Given the description of an element on the screen output the (x, y) to click on. 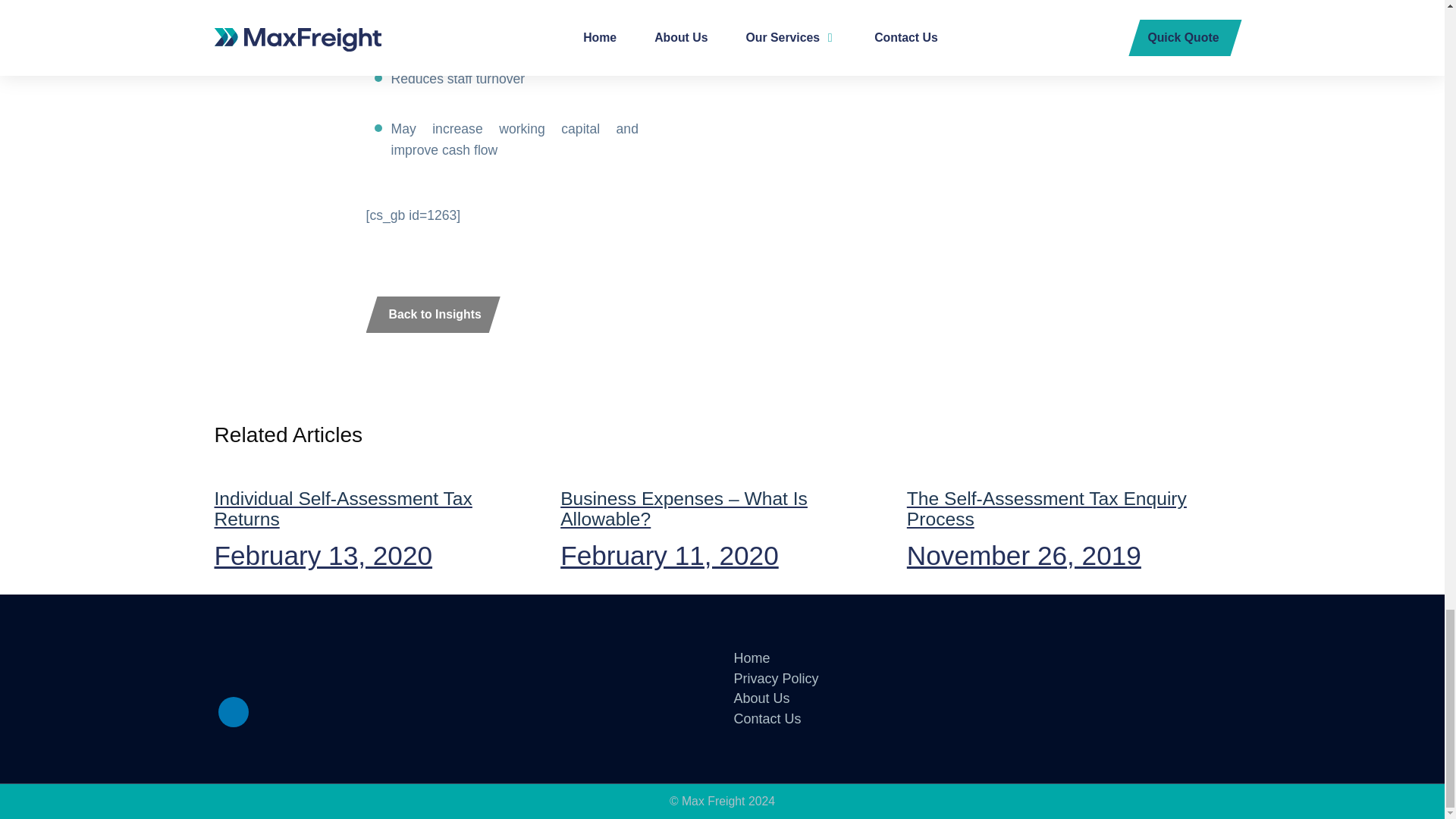
About Us (761, 698)
Home (751, 657)
Privacy Policy (775, 678)
Contact Us (767, 718)
Max Freight LinkedIn (375, 514)
Back to Insights (233, 711)
